Given the description of an element on the screen output the (x, y) to click on. 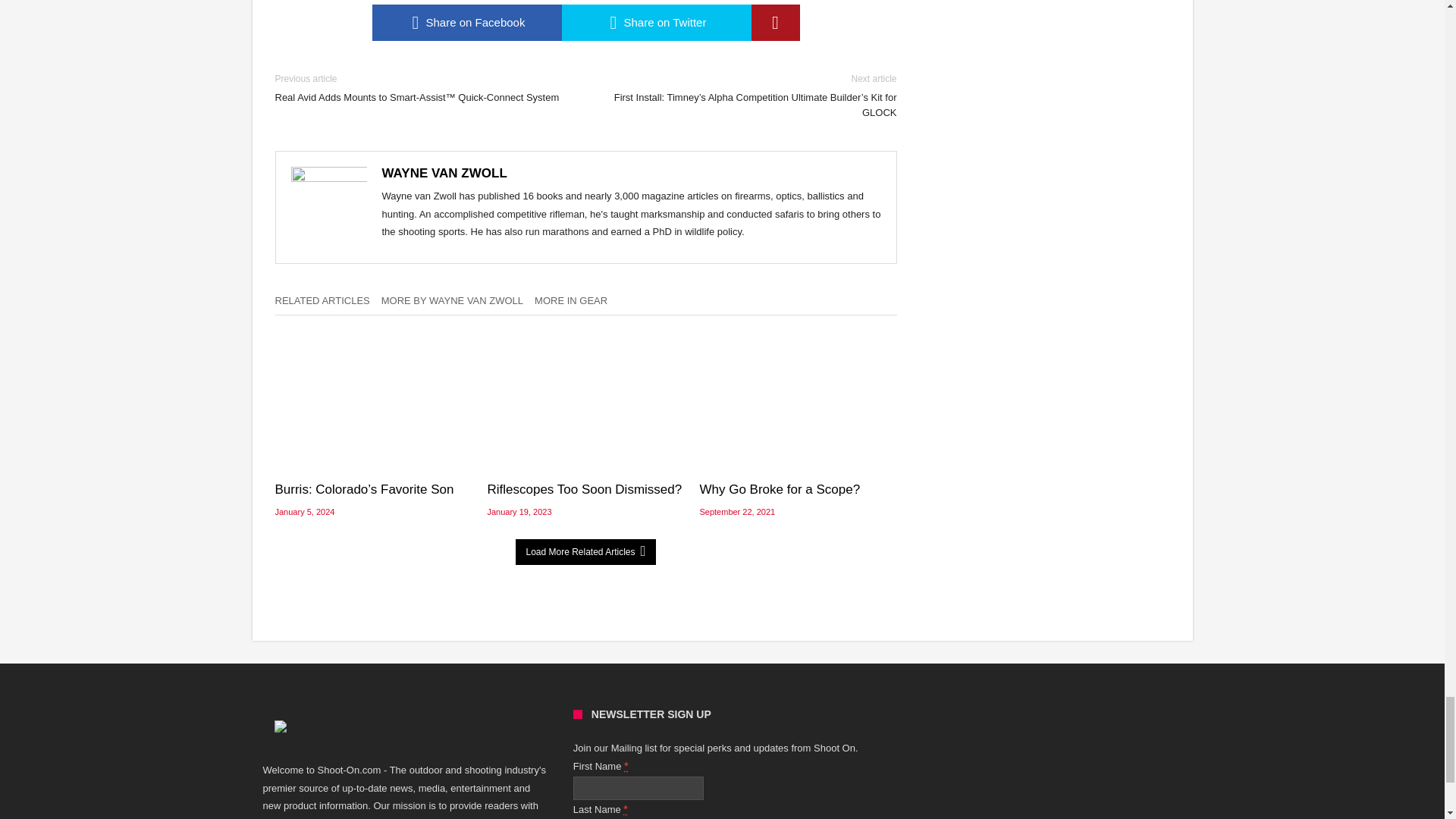
pinterest (775, 22)
facebook (465, 22)
Share on Facebook (465, 22)
twitter (655, 22)
